Given the description of an element on the screen output the (x, y) to click on. 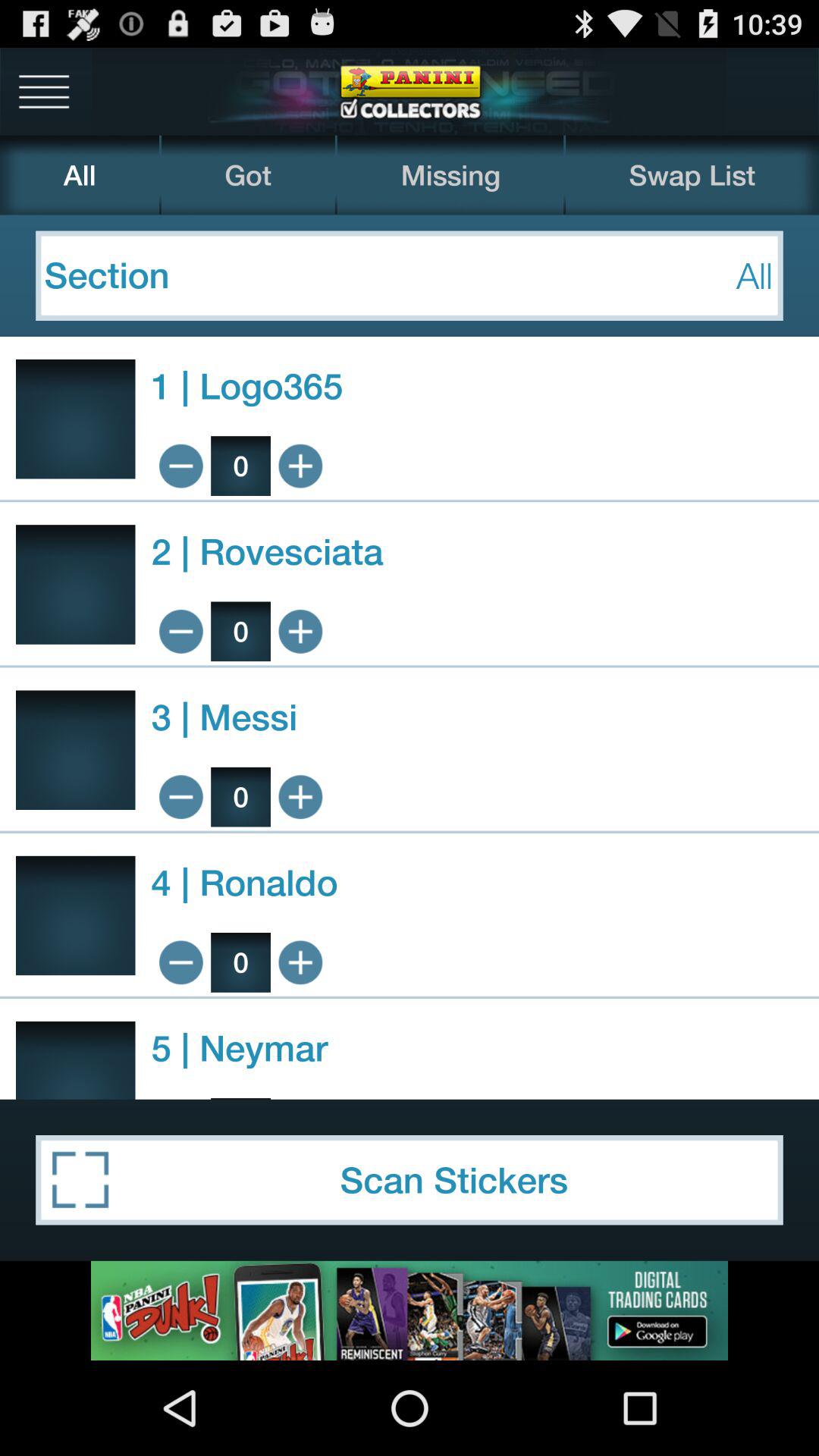
subtract one (181, 465)
